Given the description of an element on the screen output the (x, y) to click on. 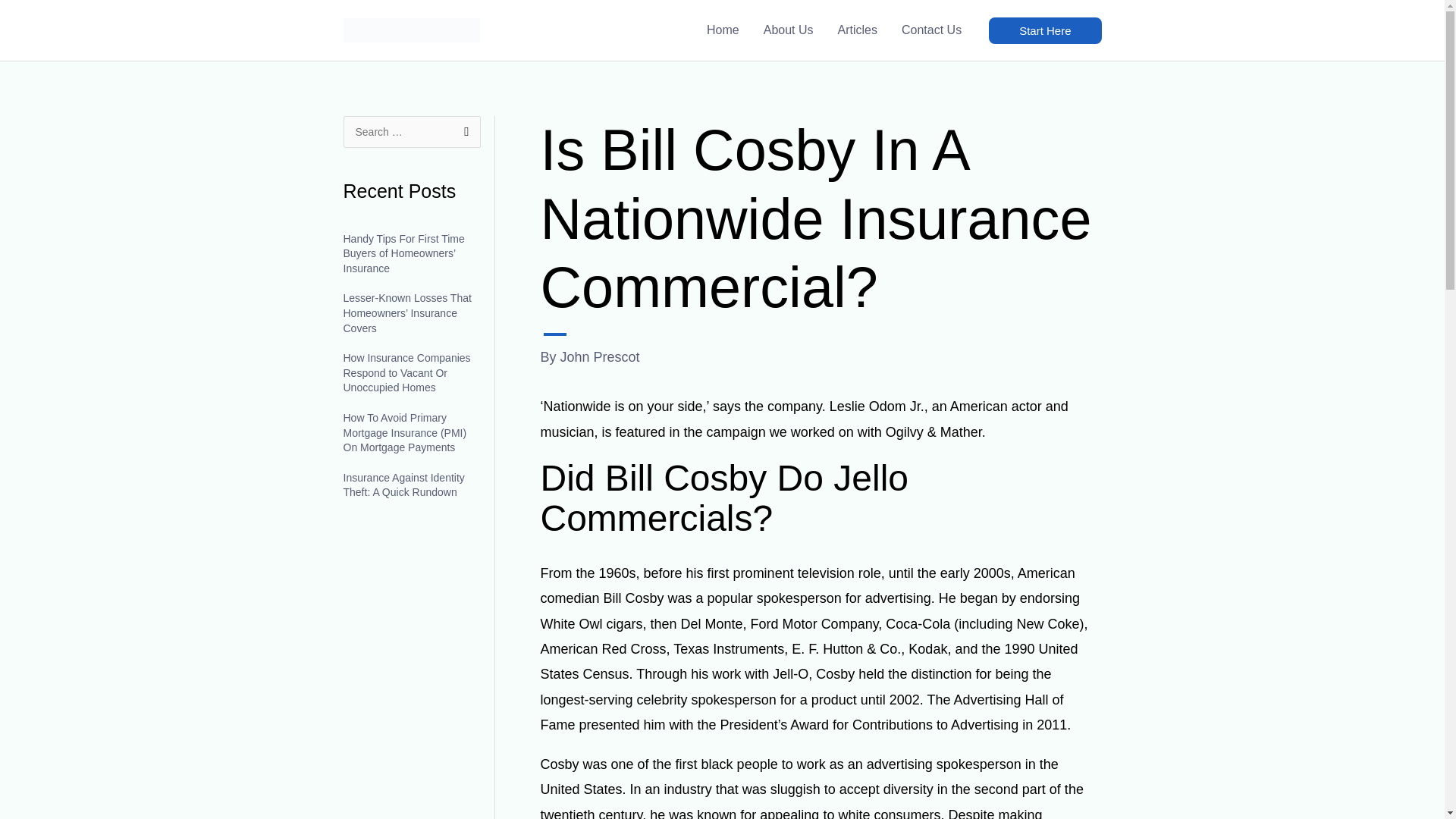
Contact Us (931, 30)
About Us (788, 30)
John Prescot (600, 356)
Search (462, 132)
View all posts by John Prescot (600, 356)
Articles (857, 30)
Search (462, 132)
Start Here (1044, 29)
Home (722, 30)
Search (462, 132)
Insurance Against Identity Theft: A Quick Rundown (403, 484)
